Given the description of an element on the screen output the (x, y) to click on. 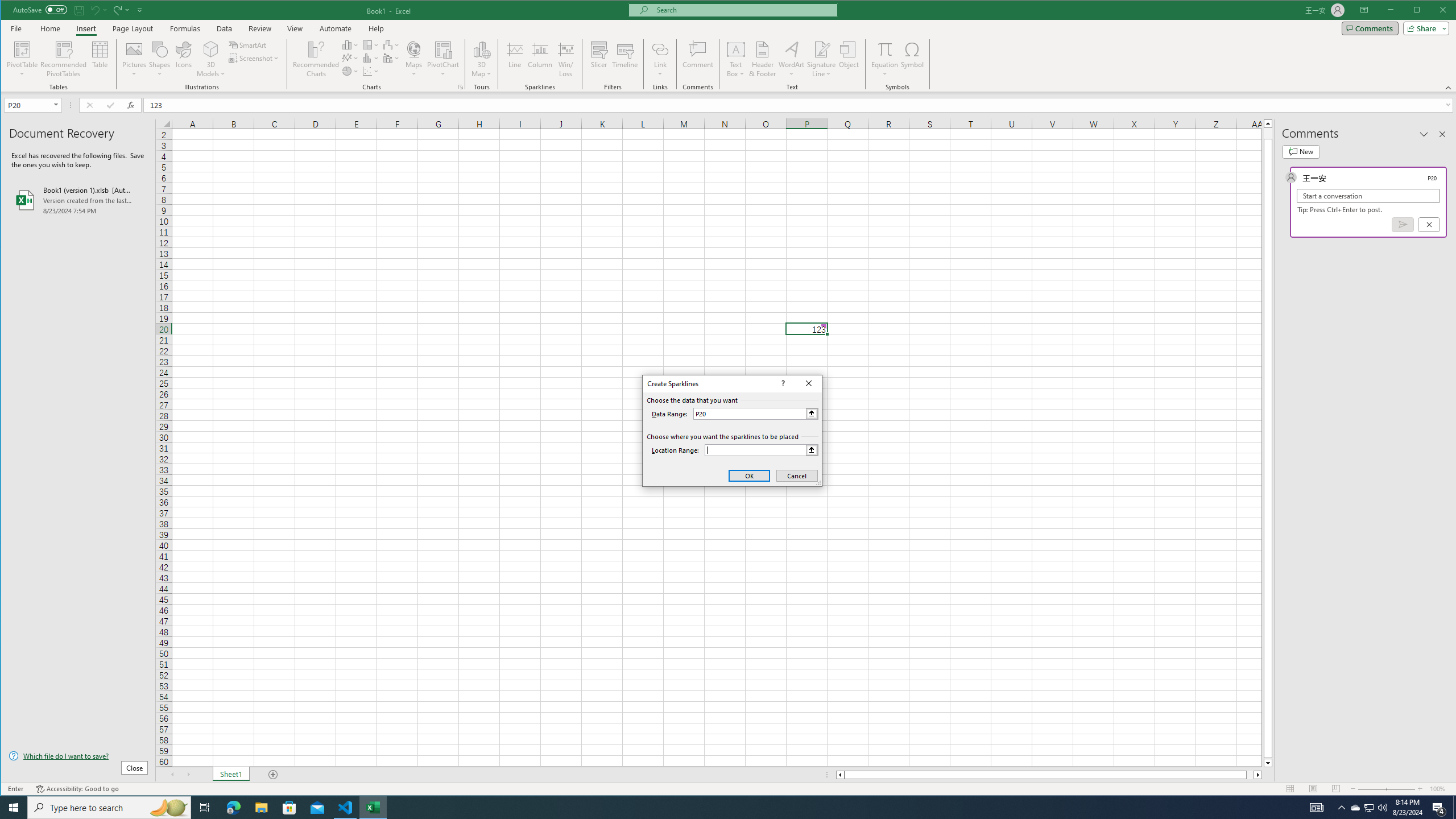
Microsoft Store (289, 807)
Signature Line (821, 48)
Page Break Preview (1335, 788)
Microsoft search (742, 10)
Insert Scatter (X, Y) or Bubble Chart (371, 70)
Insert Waterfall, Funnel, Stock, Surface, or Radar Chart (391, 44)
Zoom (1386, 788)
Running applications (717, 807)
Zoom In (1420, 788)
Normal (1290, 788)
Comments (1369, 28)
Formulas (184, 28)
View (294, 28)
